Given the description of an element on the screen output the (x, y) to click on. 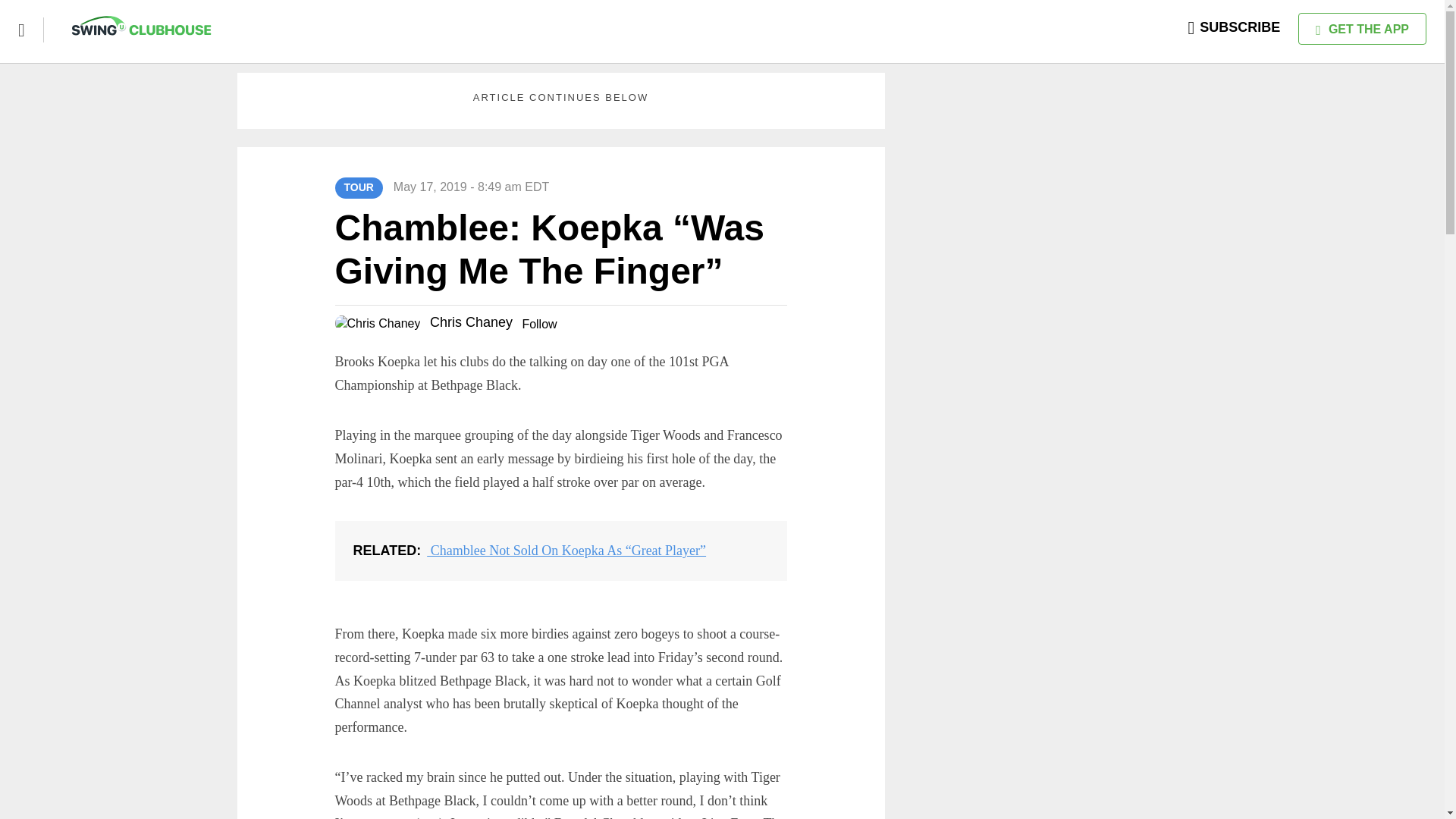
GET THE APP (1362, 29)
Chris Chaney (470, 322)
SUBSCRIBE (1234, 27)
Follow (538, 323)
